Given the description of an element on the screen output the (x, y) to click on. 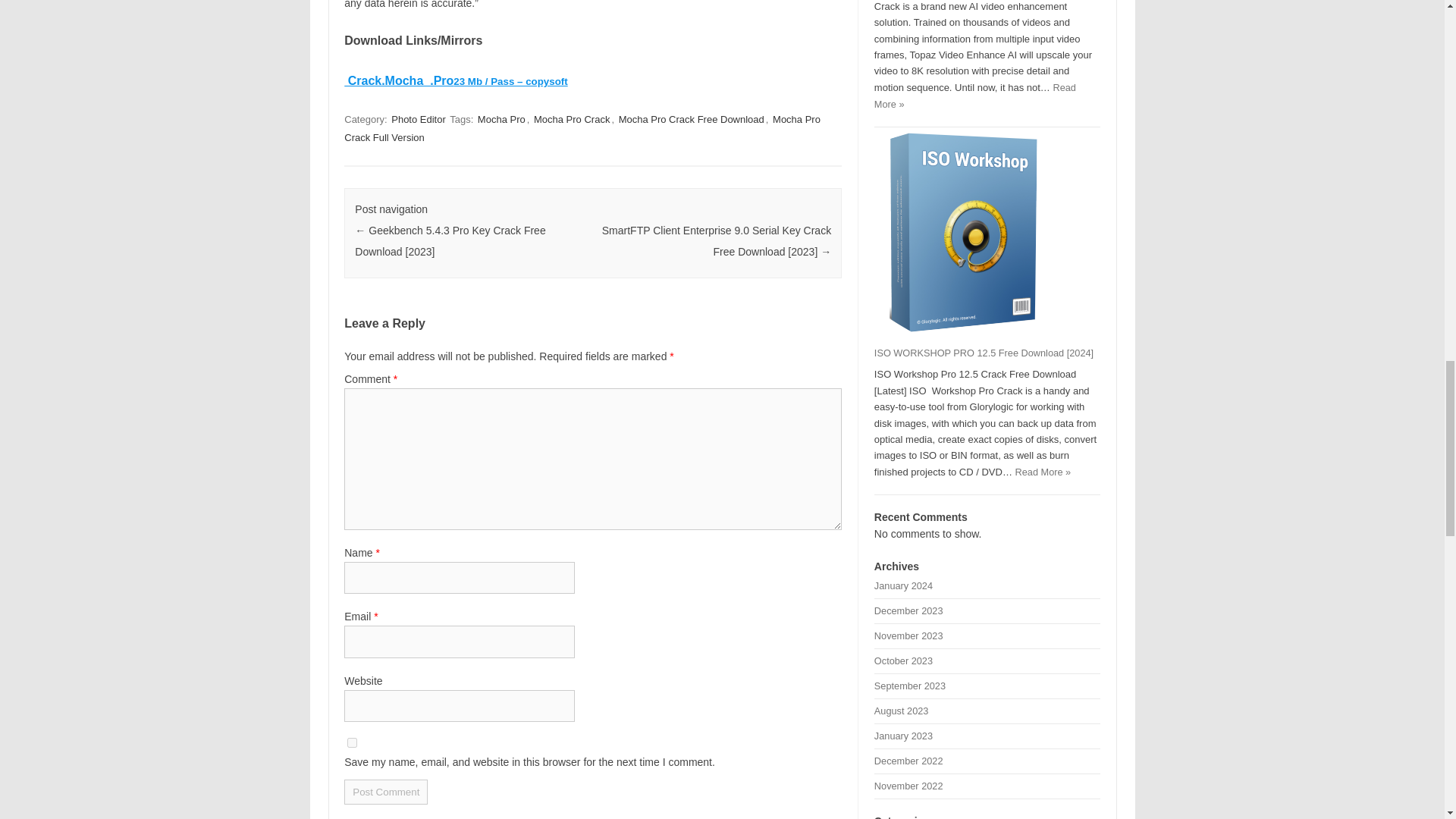
Post Comment (385, 791)
Photo Editor (418, 119)
Post Comment (385, 791)
Mocha Pro (501, 119)
Mocha Pro Crack Full Version (582, 128)
Mocha Pro Crack (571, 119)
yes (351, 742)
Mocha Pro Crack Free Download (691, 119)
